Given the description of an element on the screen output the (x, y) to click on. 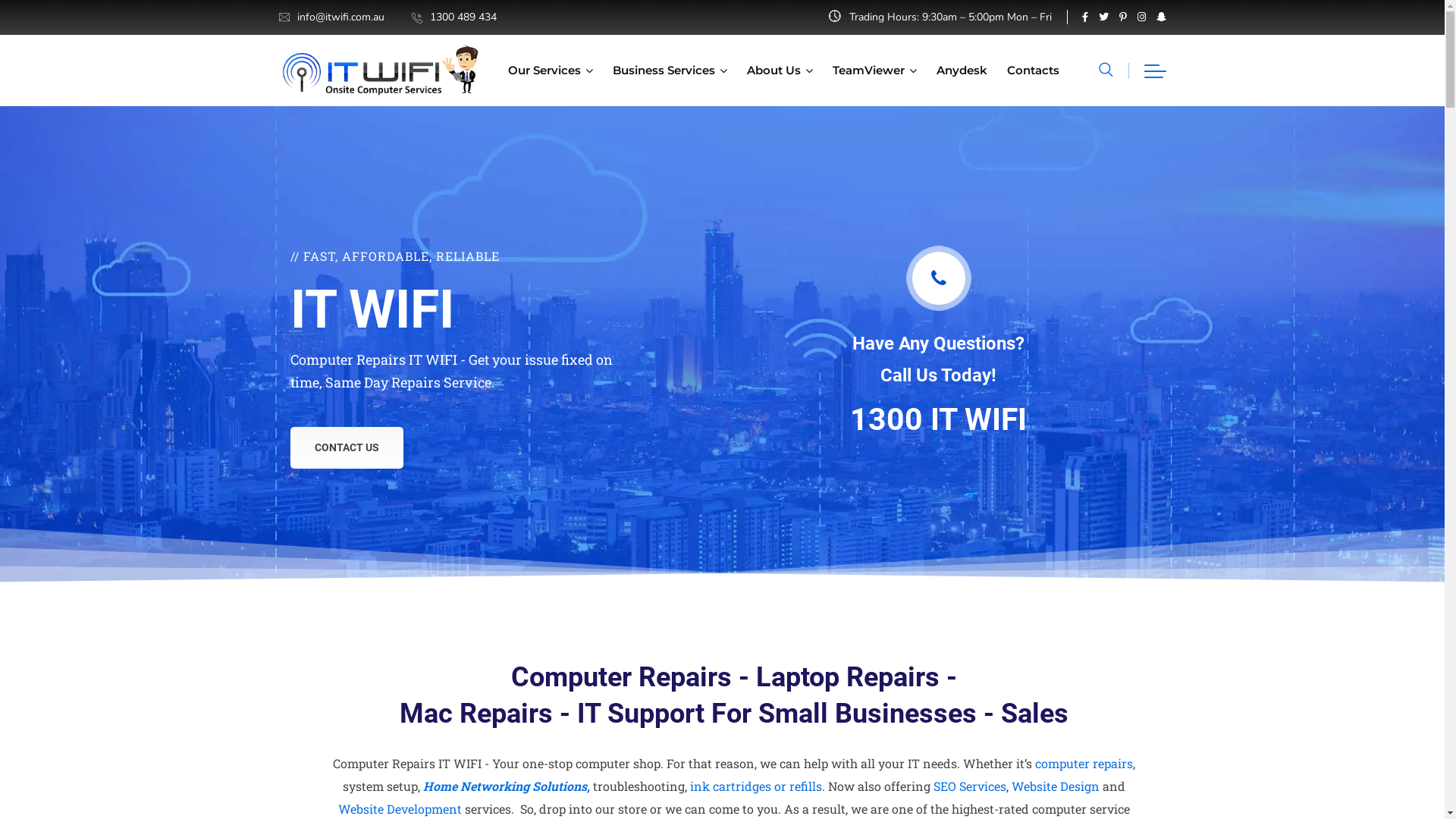
Home Networking Solutions, Element type: text (506, 785)
computer repairs Element type: text (1083, 763)
Anydesk Element type: text (960, 70)
Our Services Element type: text (550, 70)
CONTACT US Element type: text (345, 447)
ink cartridges or refills Element type: text (756, 785)
About Us Element type: text (779, 70)
Website Development Element type: text (399, 808)
1300 IT WIFI Element type: text (938, 419)
Contacts Element type: text (1033, 70)
SEO Services Element type: text (968, 785)
Business Services Element type: text (669, 70)
TeamViewer Element type: text (874, 70)
Website Design Element type: text (1055, 785)
info@itwifi.com.au Element type: text (340, 16)
1300 489 434 Element type: text (462, 16)
